Given the description of an element on the screen output the (x, y) to click on. 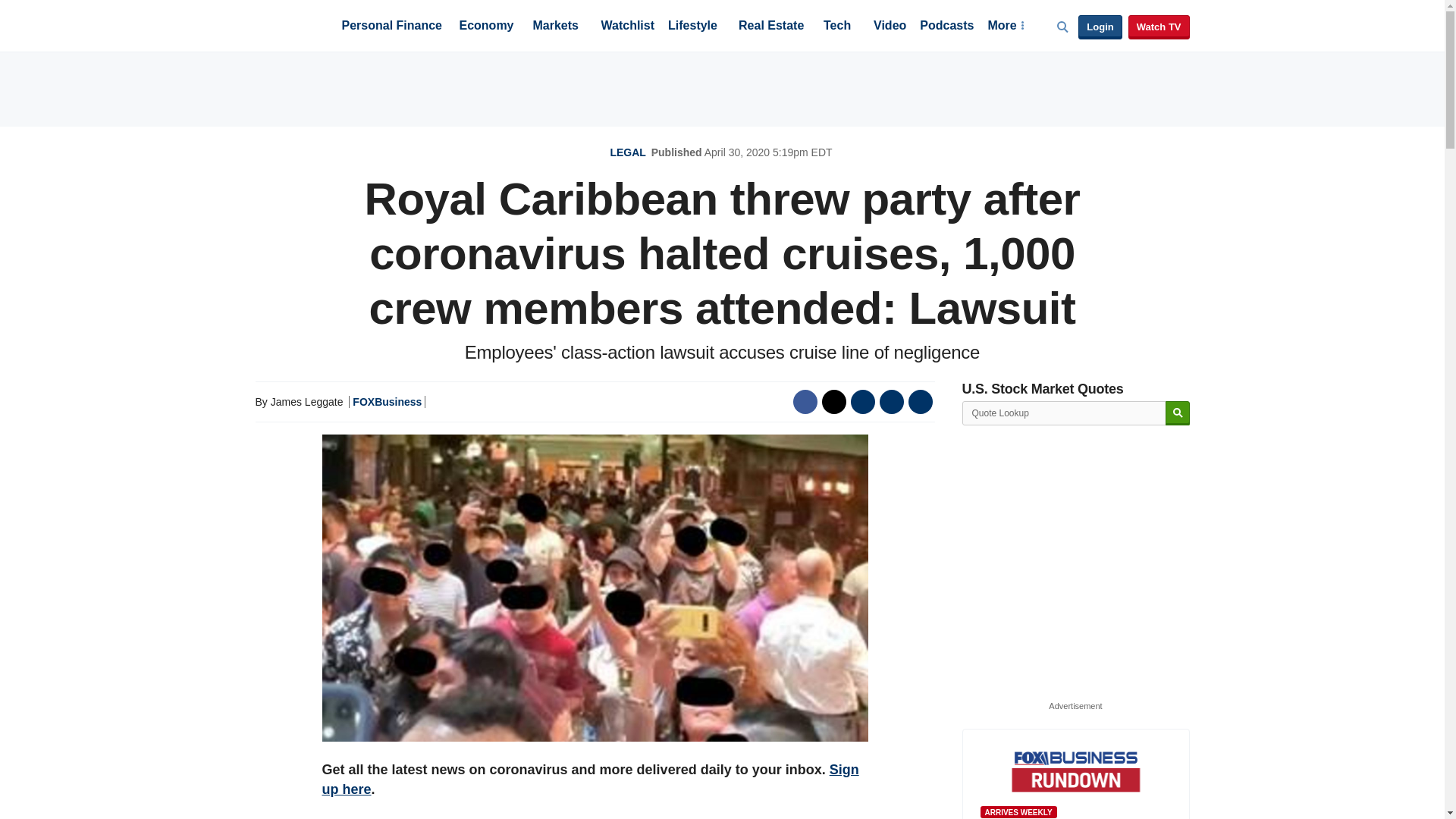
Tech (837, 27)
Fox Business (290, 24)
Markets (555, 27)
Personal Finance (391, 27)
Podcasts (947, 27)
Video (889, 27)
Economy (486, 27)
Lifestyle (692, 27)
Watch TV (1158, 27)
Watchlist (626, 27)
